Given the description of an element on the screen output the (x, y) to click on. 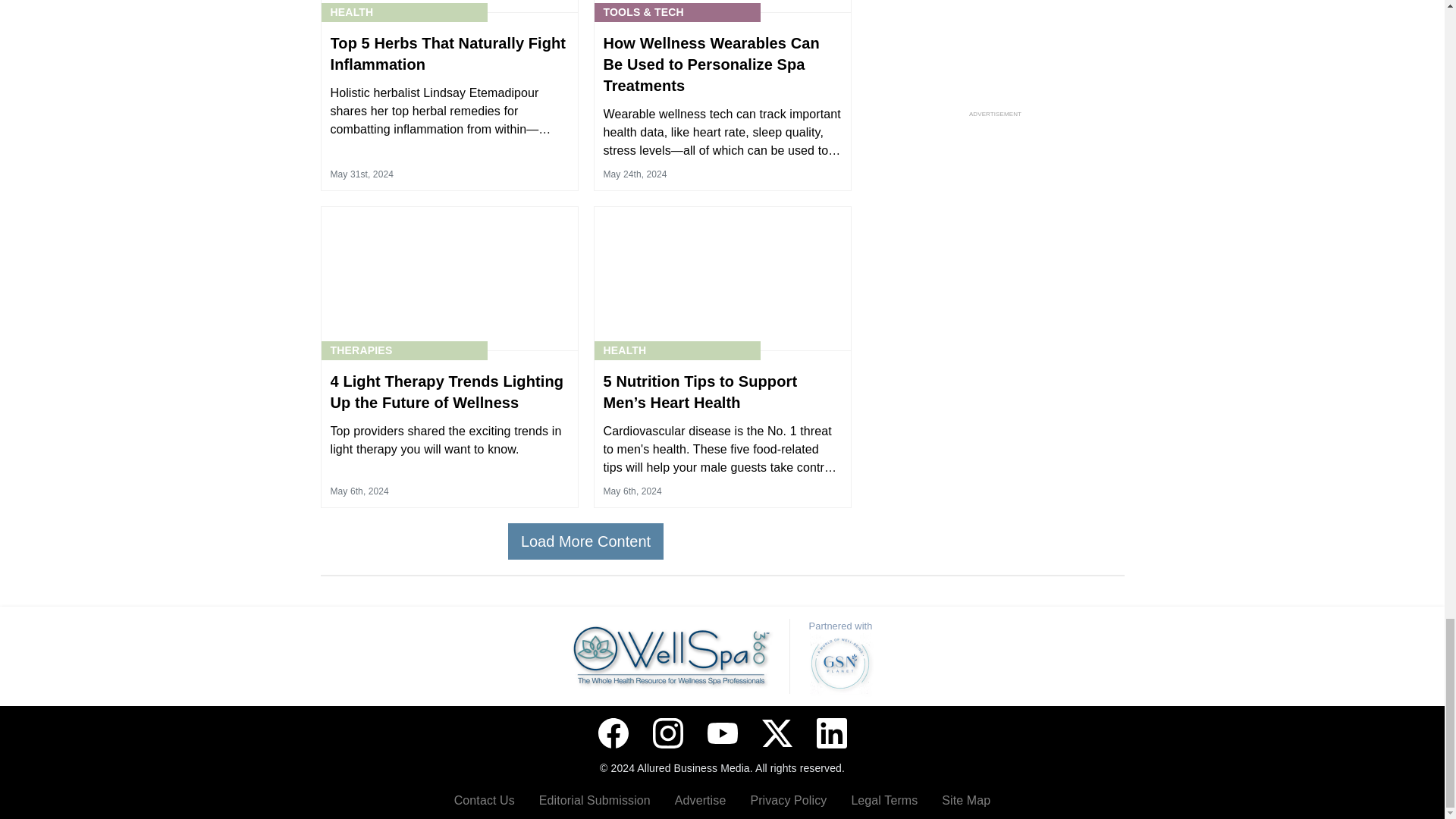
YouTube icon (721, 733)
Facebook icon (611, 733)
Twitter X icon (776, 733)
Instagram icon (667, 733)
